Given the description of an element on the screen output the (x, y) to click on. 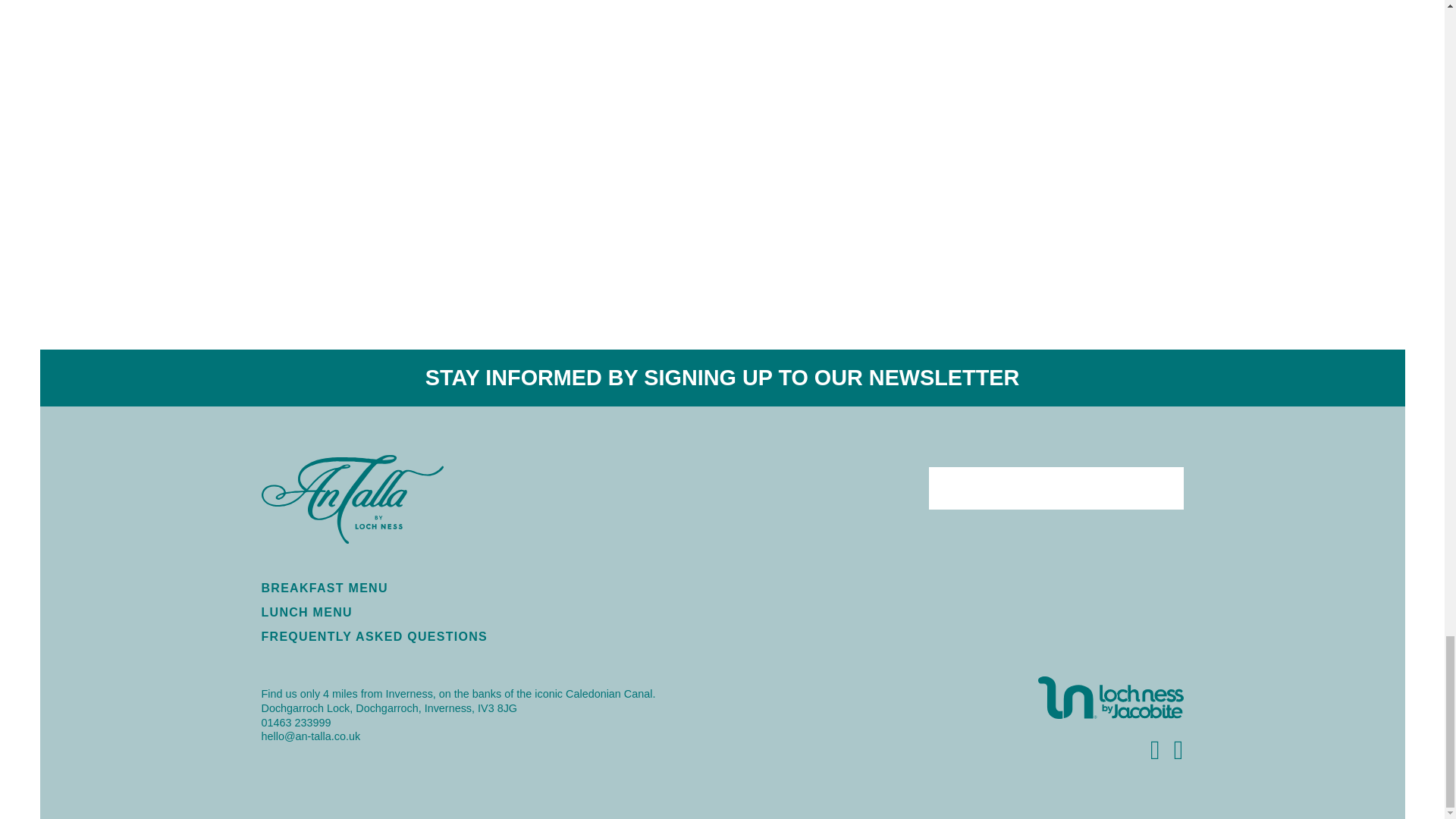
STAY INFORMED BY SIGNING UP TO OUR NEWSLETTER (722, 377)
BREAKFAST MENU (323, 587)
LUNCH MENU (306, 612)
FREQUENTLY ASKED QUESTIONS (373, 635)
